Given the description of an element on the screen output the (x, y) to click on. 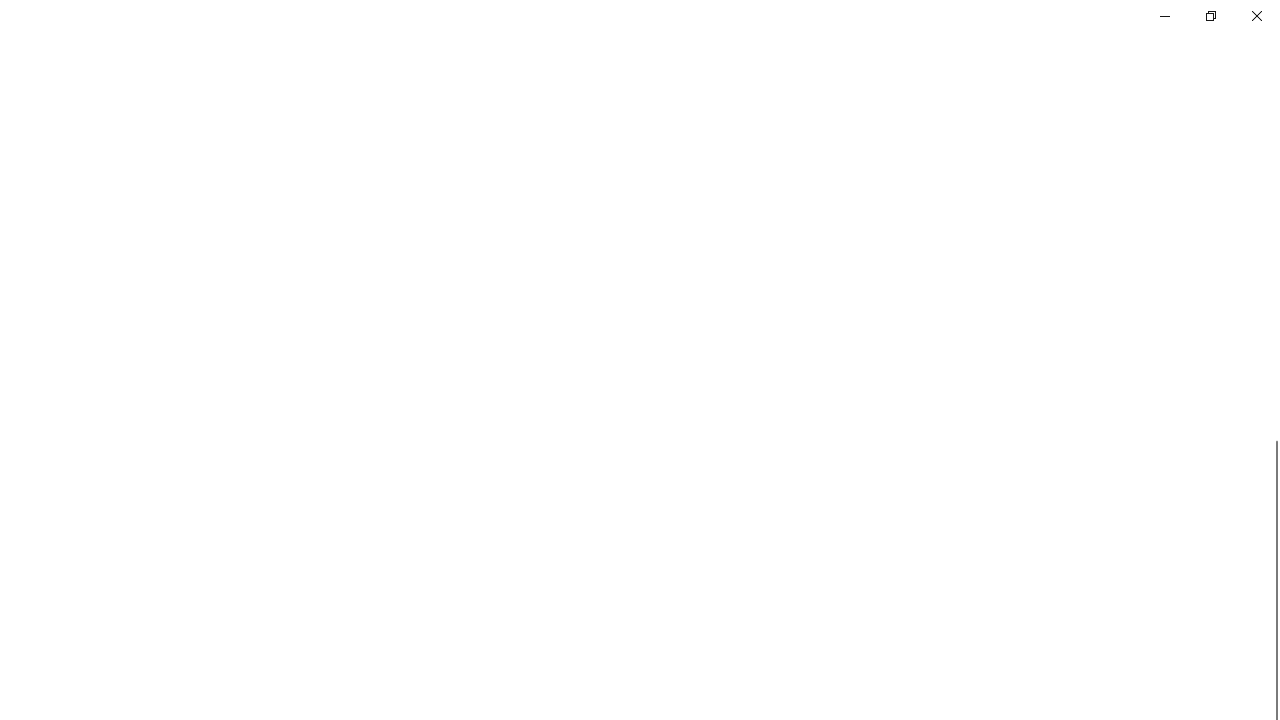
Vertical Large Decrease (1272, 276)
Vertical Small Decrease (1272, 103)
